Given the description of an element on the screen output the (x, y) to click on. 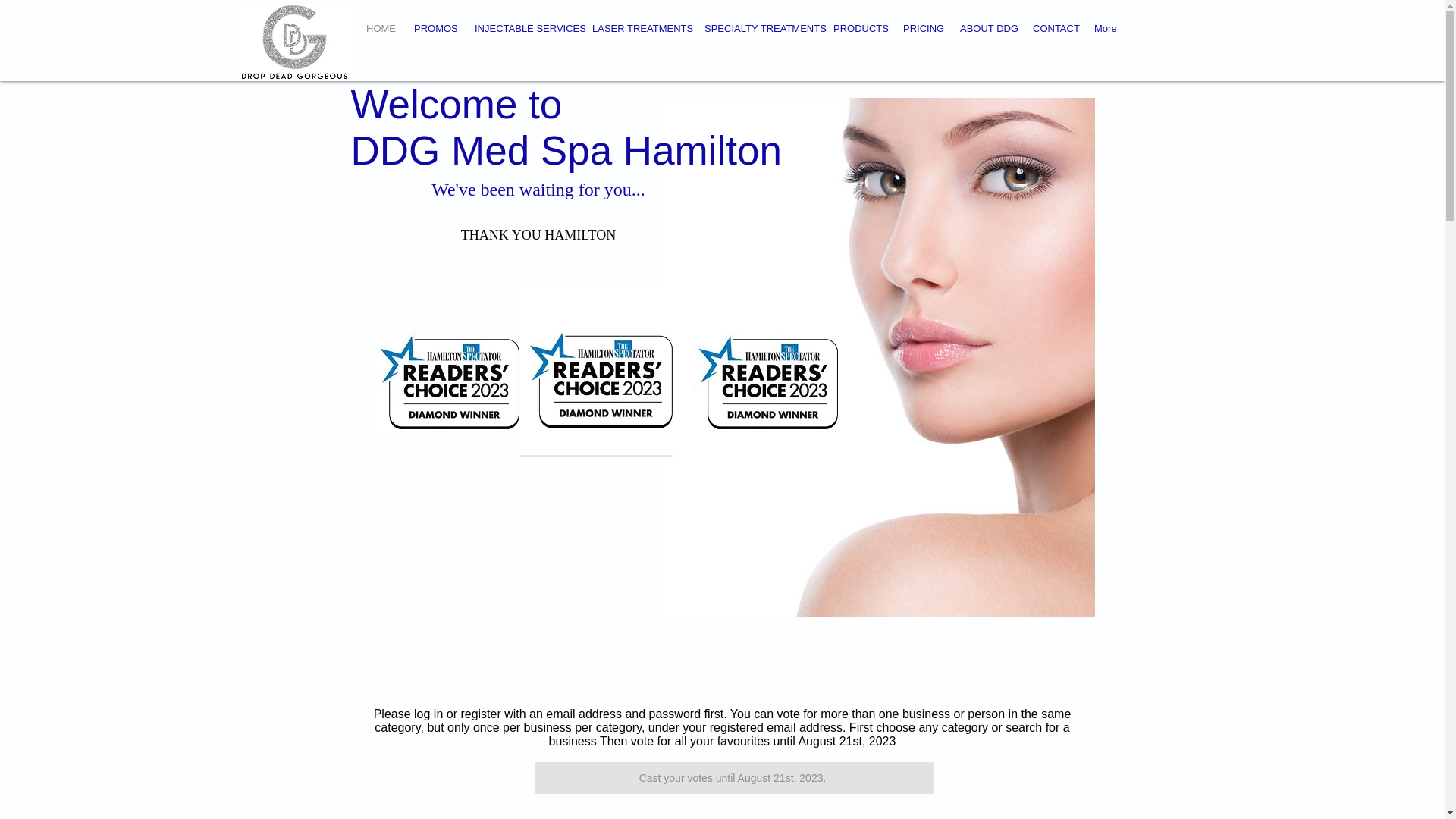
Cast your votes until August 21st, 2023. (733, 777)
- Final Sale - (722, 678)
HOME (379, 28)
PRICING (920, 28)
PROMOS (433, 28)
CONTACT (1052, 28)
